Given the description of an element on the screen output the (x, y) to click on. 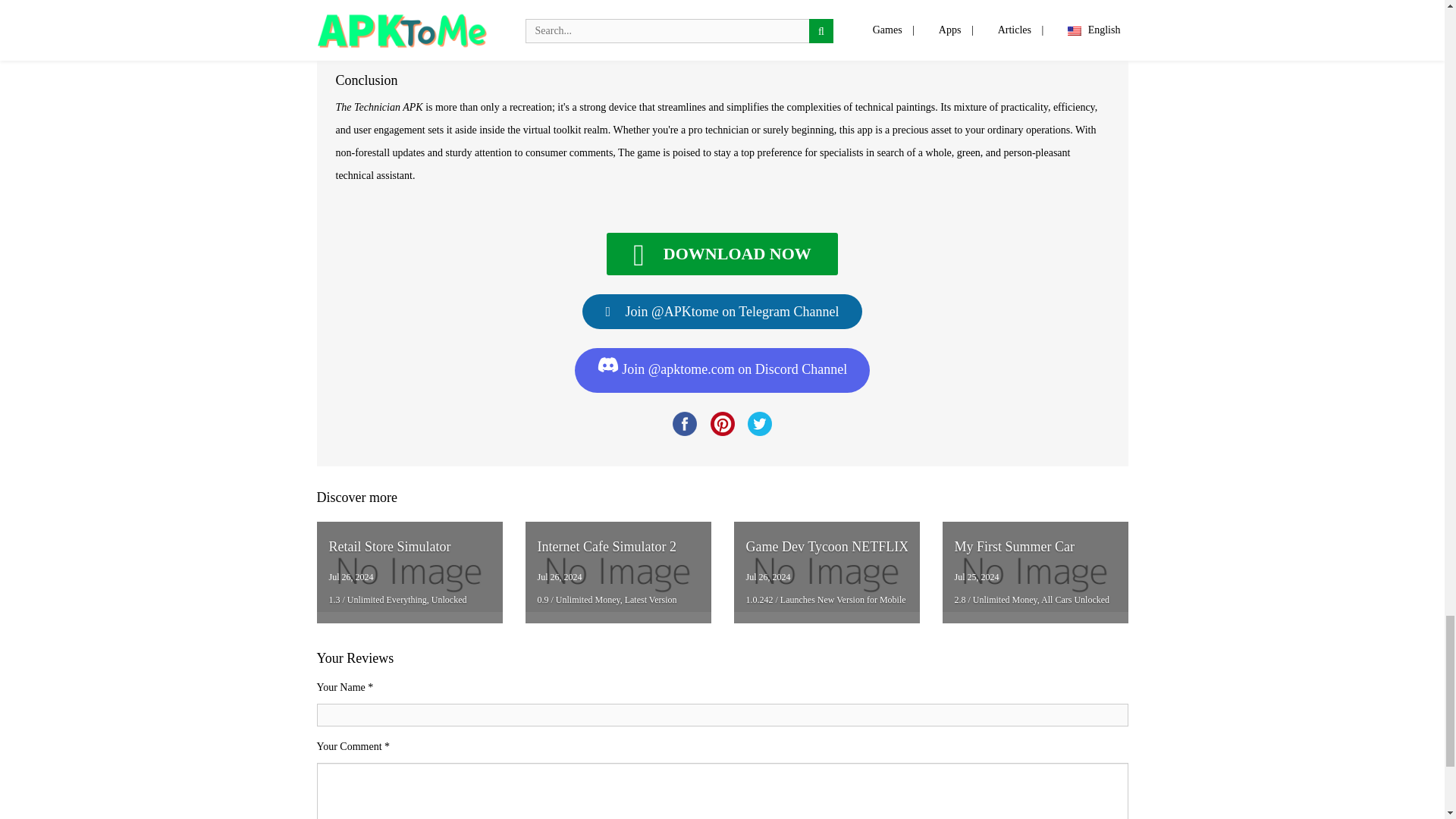
Internet Cafe Simulator 2 (617, 572)
My First Summer Car (1034, 572)
Retail Store Simulator (409, 572)
Game Dev Tycoon NETFLIX (826, 572)
DOWNLOAD NOW (721, 253)
The Technician (721, 253)
